Given the description of an element on the screen output the (x, y) to click on. 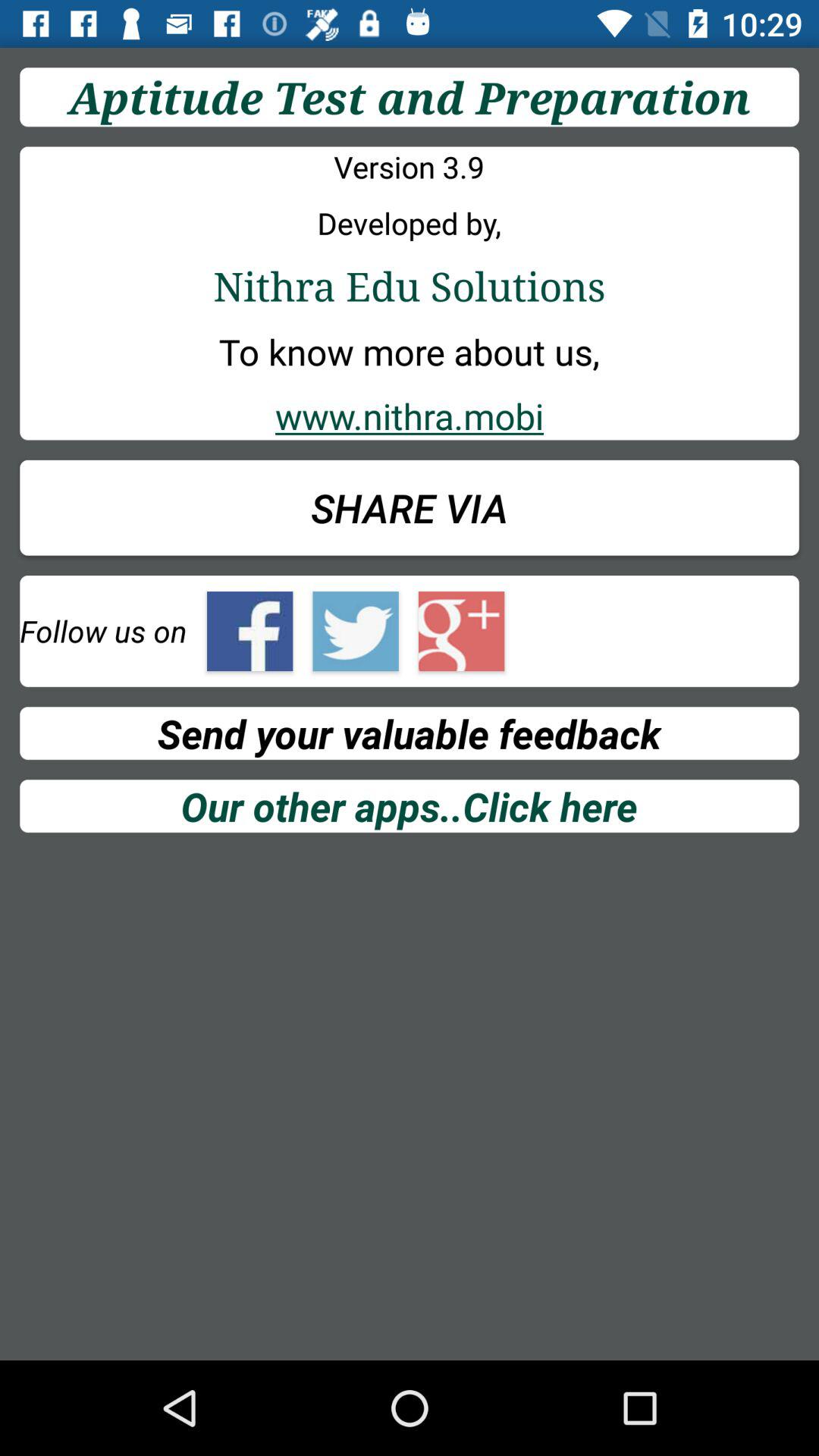
orange box flashing on facebook sign (249, 631)
